Given the description of an element on the screen output the (x, y) to click on. 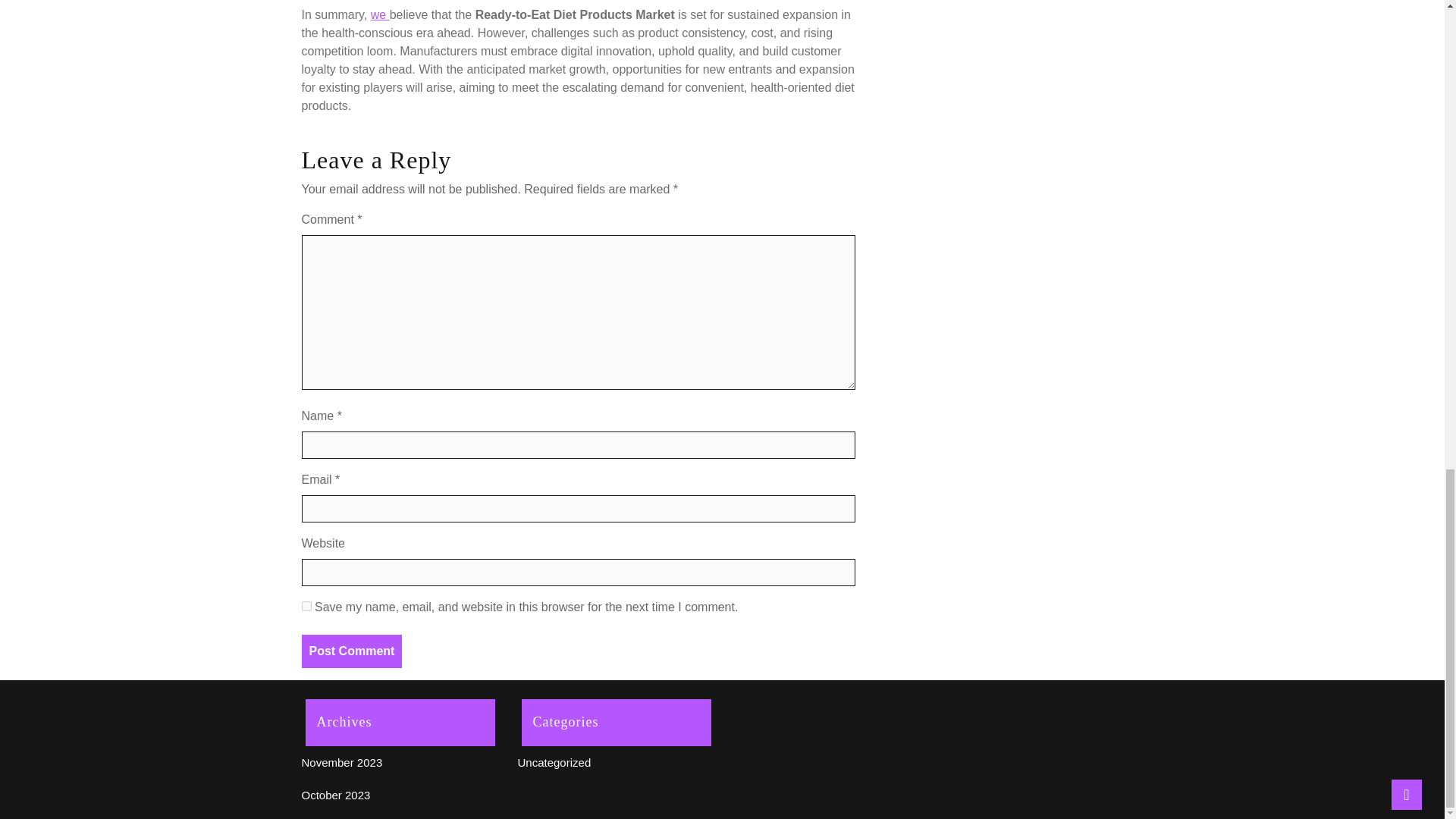
we (380, 14)
Post Comment (352, 651)
Post Comment (352, 651)
November 2023 (341, 762)
yes (306, 605)
October 2023 (336, 794)
Uncategorized (553, 762)
